Given the description of an element on the screen output the (x, y) to click on. 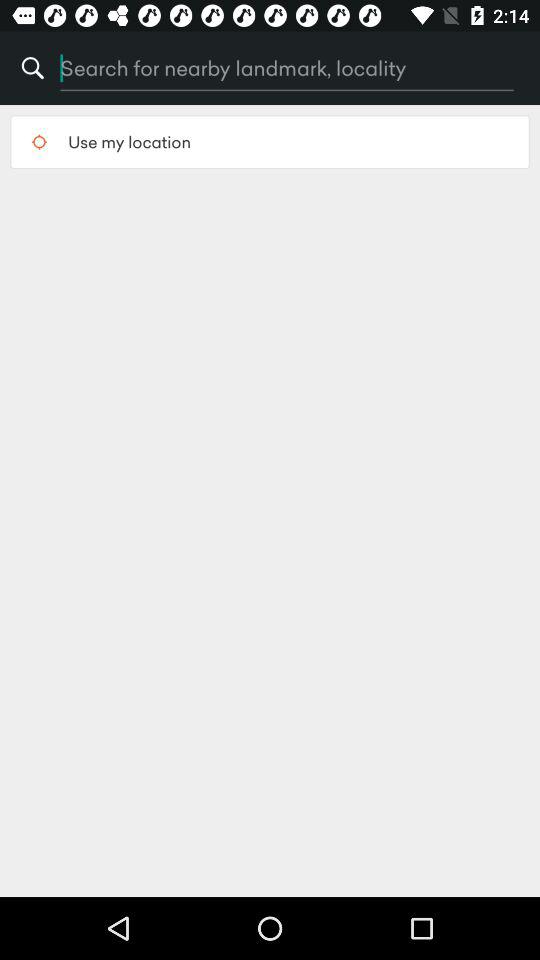
turn off item above the use my location item (243, 68)
